Given the description of an element on the screen output the (x, y) to click on. 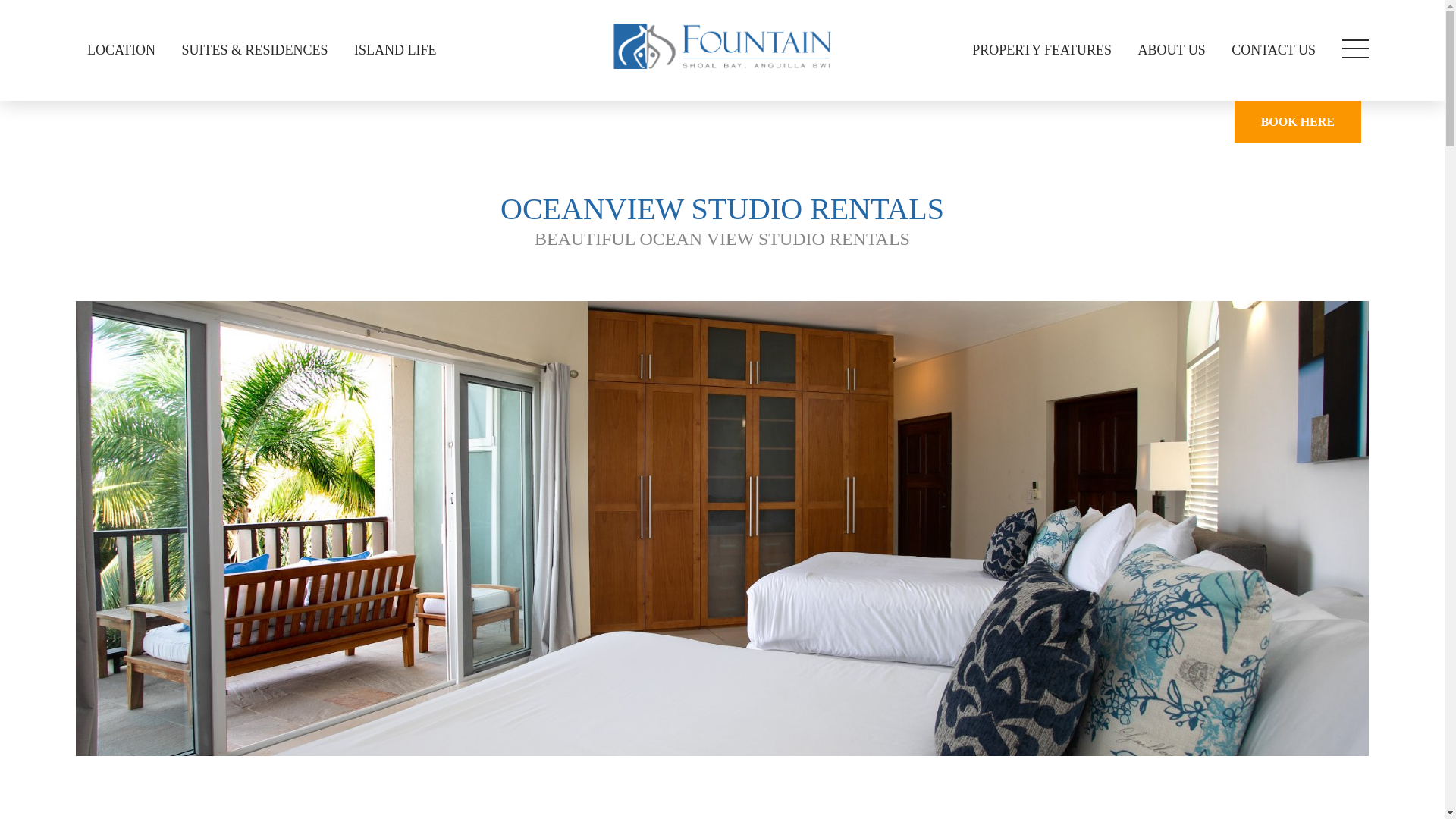
CONTACT US (1273, 50)
ABOUT US (1171, 50)
ISLAND LIFE (395, 50)
LOCATION (121, 50)
PROPERTY FEATURES (1041, 50)
